Given the description of an element on the screen output the (x, y) to click on. 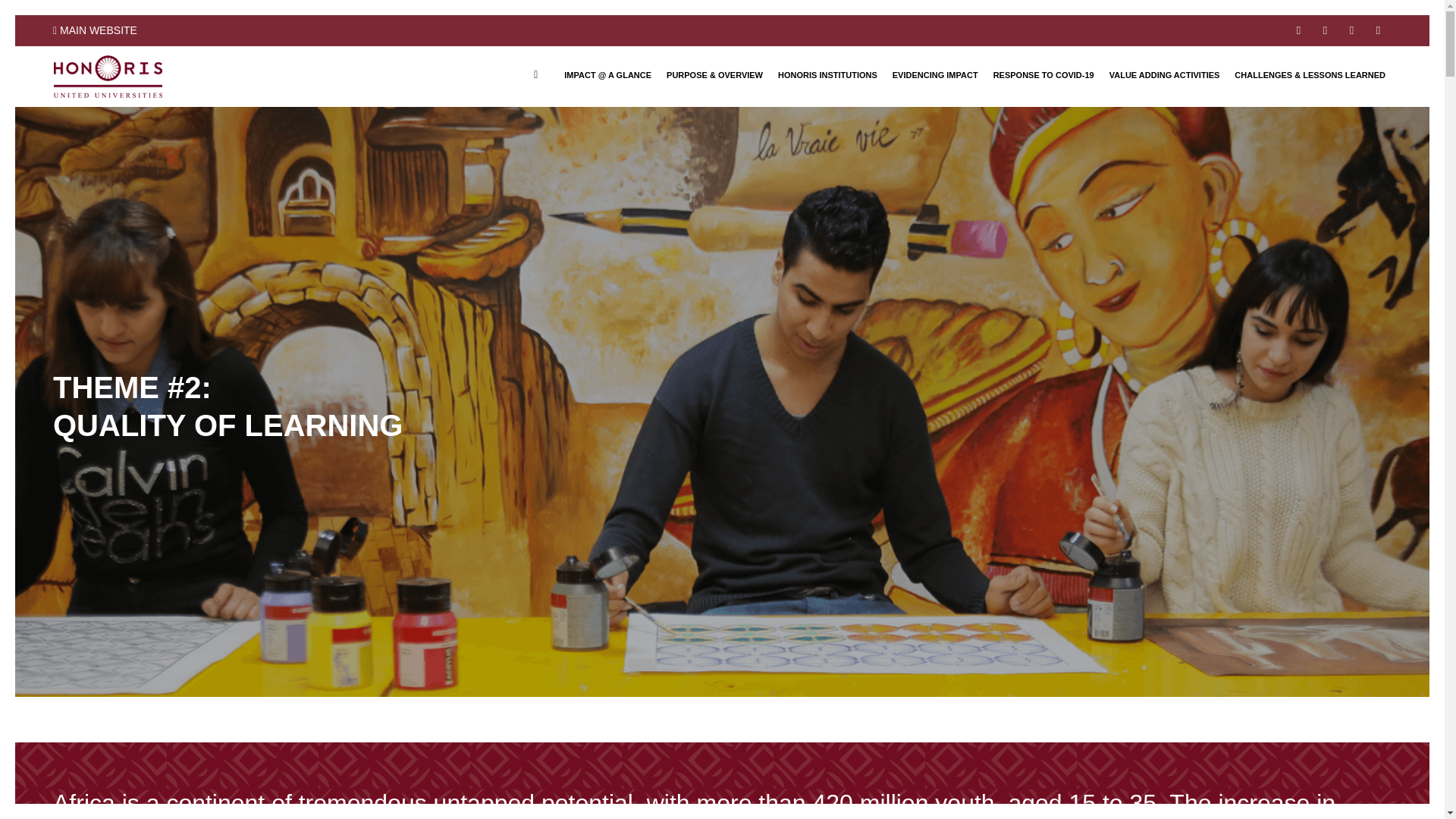
MAIN WEBSITE (94, 30)
HONORIS INSTITUTIONS (827, 74)
EVIDENCING IMPACT (935, 74)
